Given the description of an element on the screen output the (x, y) to click on. 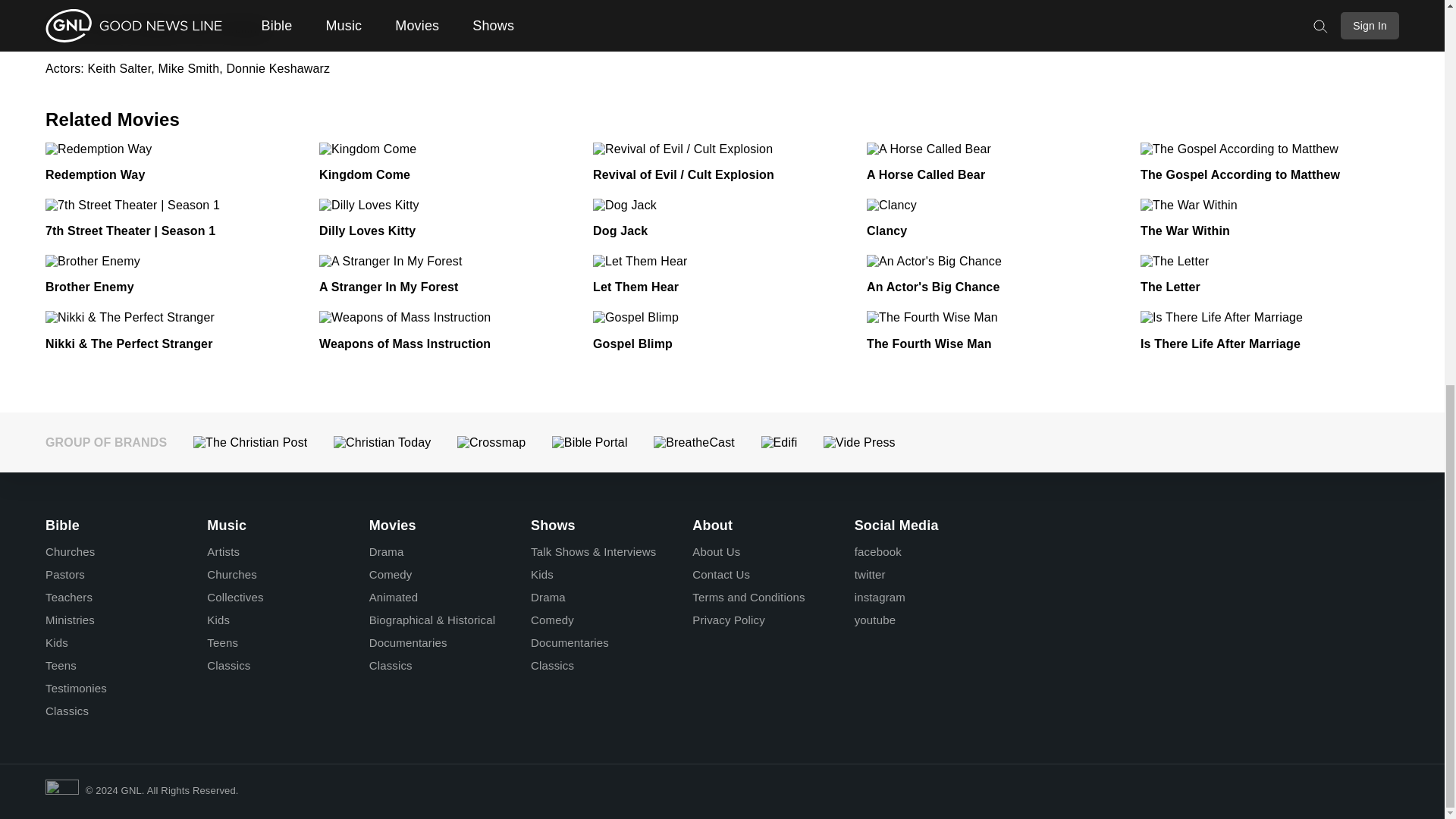
Kingdom Come (364, 174)
The Gospel According to Matthew (1239, 174)
A Horse Called Bear (925, 174)
Redemption Way (94, 174)
